Given the description of an element on the screen output the (x, y) to click on. 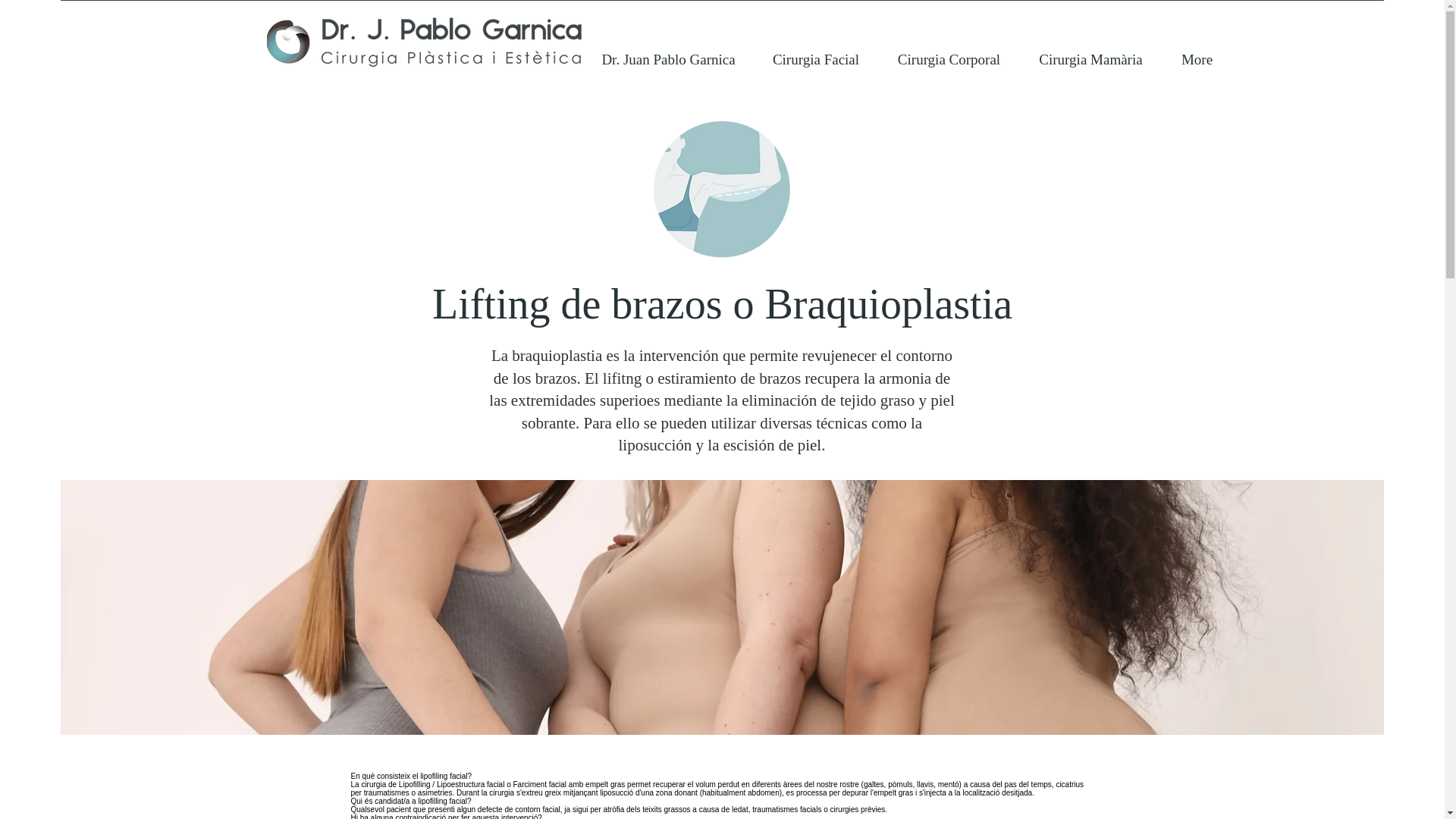
Dr. Juan Pablo Garnica (668, 58)
